Given the description of an element on the screen output the (x, y) to click on. 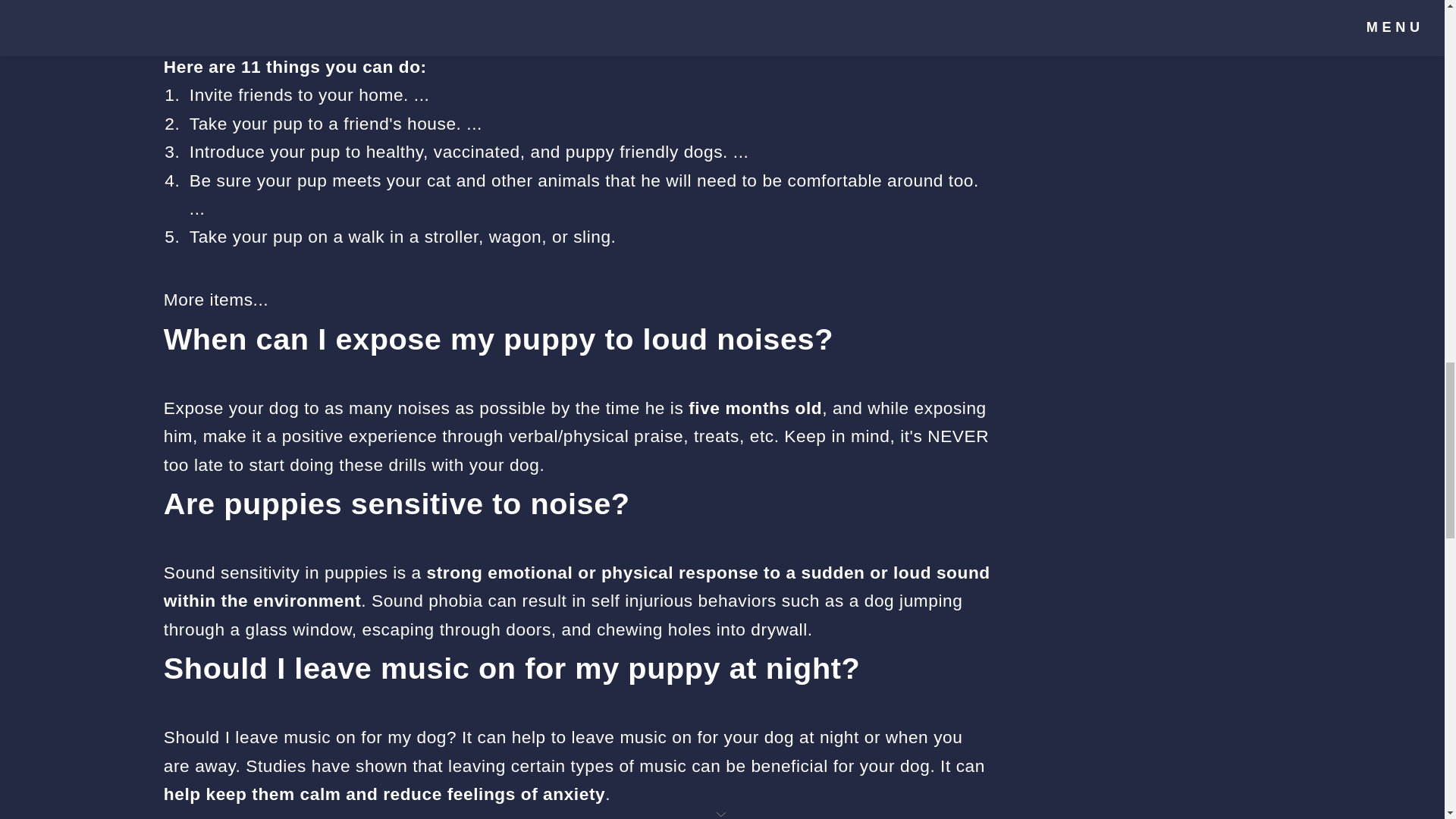
What are Mother Nature's powers? (1130, 29)
